Given the description of an element on the screen output the (x, y) to click on. 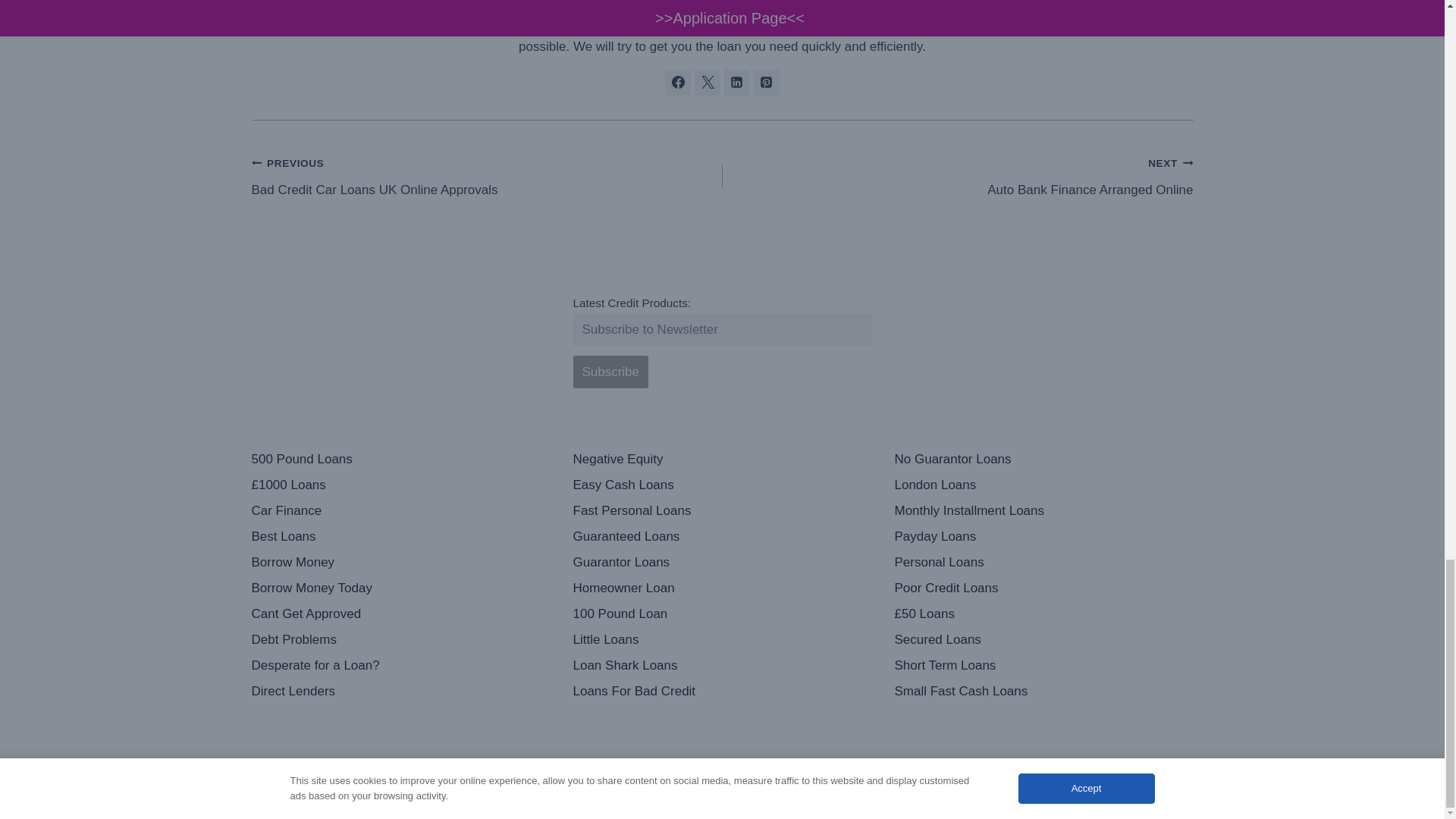
Follow Brian Hillier on Facebook (677, 82)
Car Finance (400, 510)
Borrow Money Today (400, 588)
Borrow Money (400, 562)
Cant Get Approved (400, 614)
Follow Brian Hillier on X formerly Twitter (707, 82)
Follow Brian Hillier on Pinterest (766, 82)
500 Pound Loans (400, 459)
Follow Brian Hillier on Linkedin (486, 175)
